Given the description of an element on the screen output the (x, y) to click on. 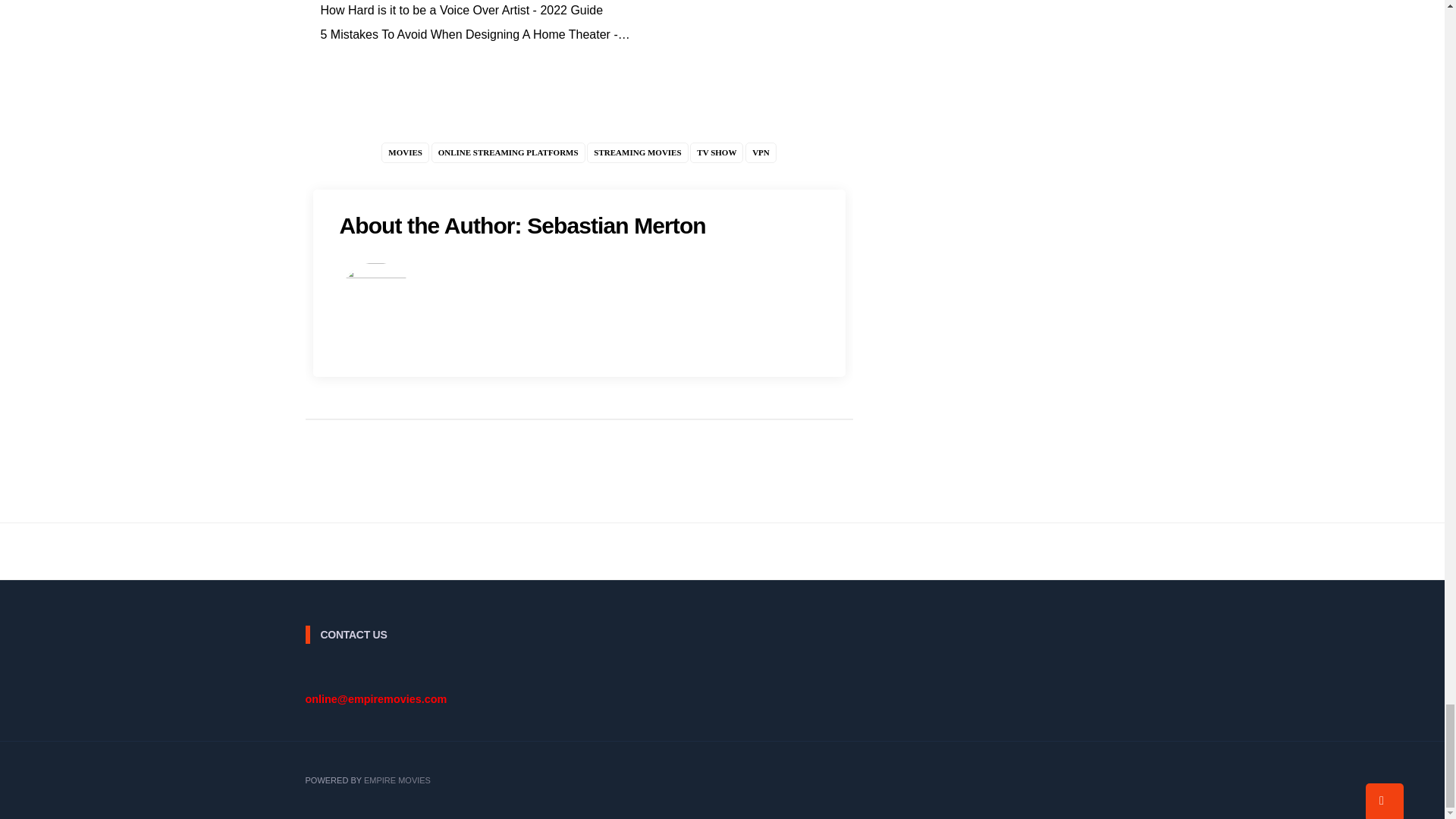
ONLINE STREAMING PLATFORMS (507, 152)
How Hard is it to be a Voice Over Artist - 2022 Guide (461, 10)
TV SHOW (716, 152)
MOVIES (405, 152)
STREAMING MOVIES (636, 152)
Sebastian Merton (616, 225)
Posts by Sebastian Merton (616, 225)
VPN (760, 152)
